Given the description of an element on the screen output the (x, y) to click on. 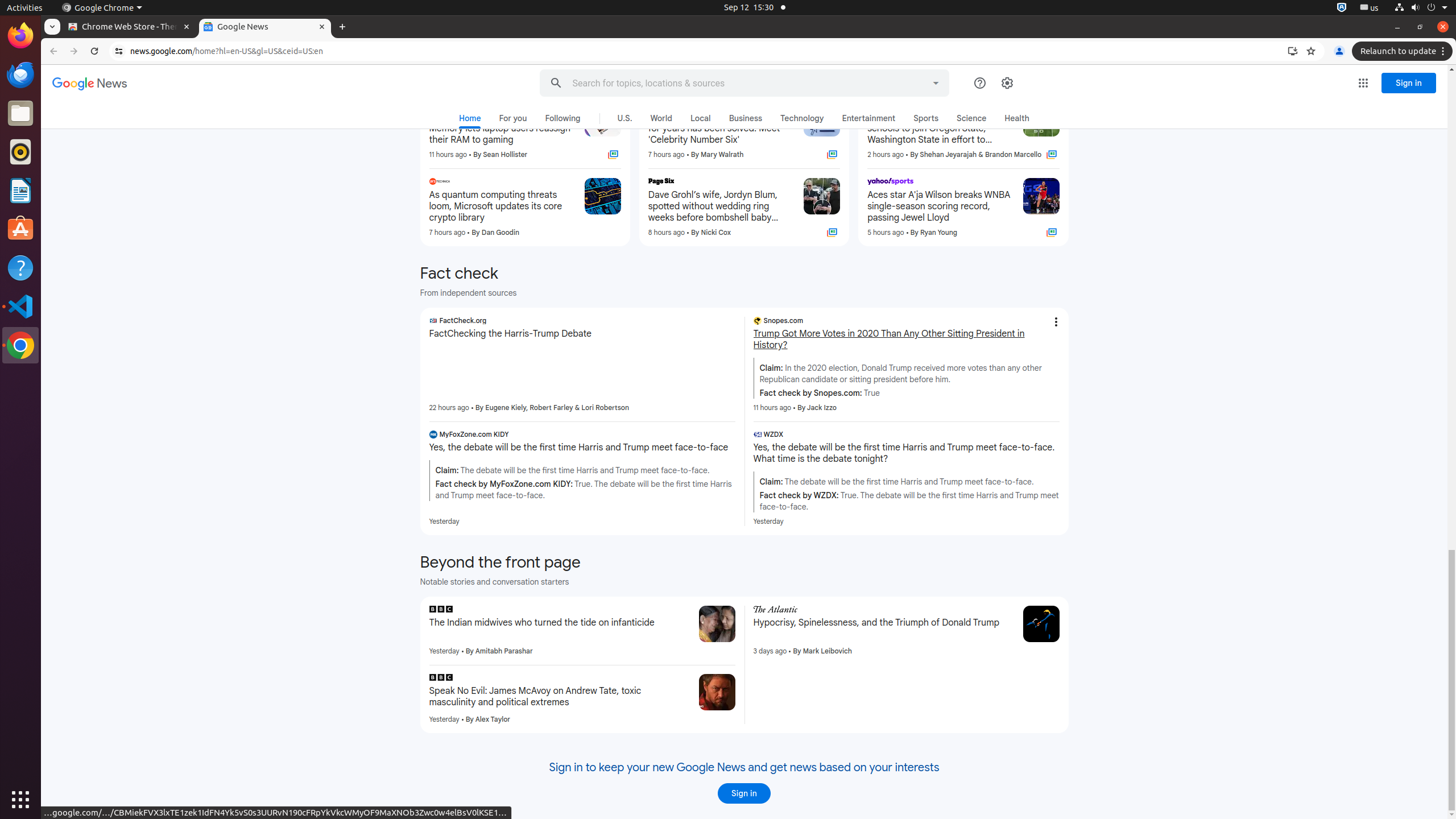
World Element type: menu-item (661, 118)
FactChecking the Harris-Trump Debate Element type: link (581, 333)
Apple Releases iOS 18.1 Beta 3 for Upcoming iPhone 16 Models Element type: link (501, 50)
More - Trump Got More Votes in 2020 Than Any Other Sitting President in History? Element type: push-button (1055, 321)
Local Element type: menu-item (699, 118)
